Given the description of an element on the screen output the (x, y) to click on. 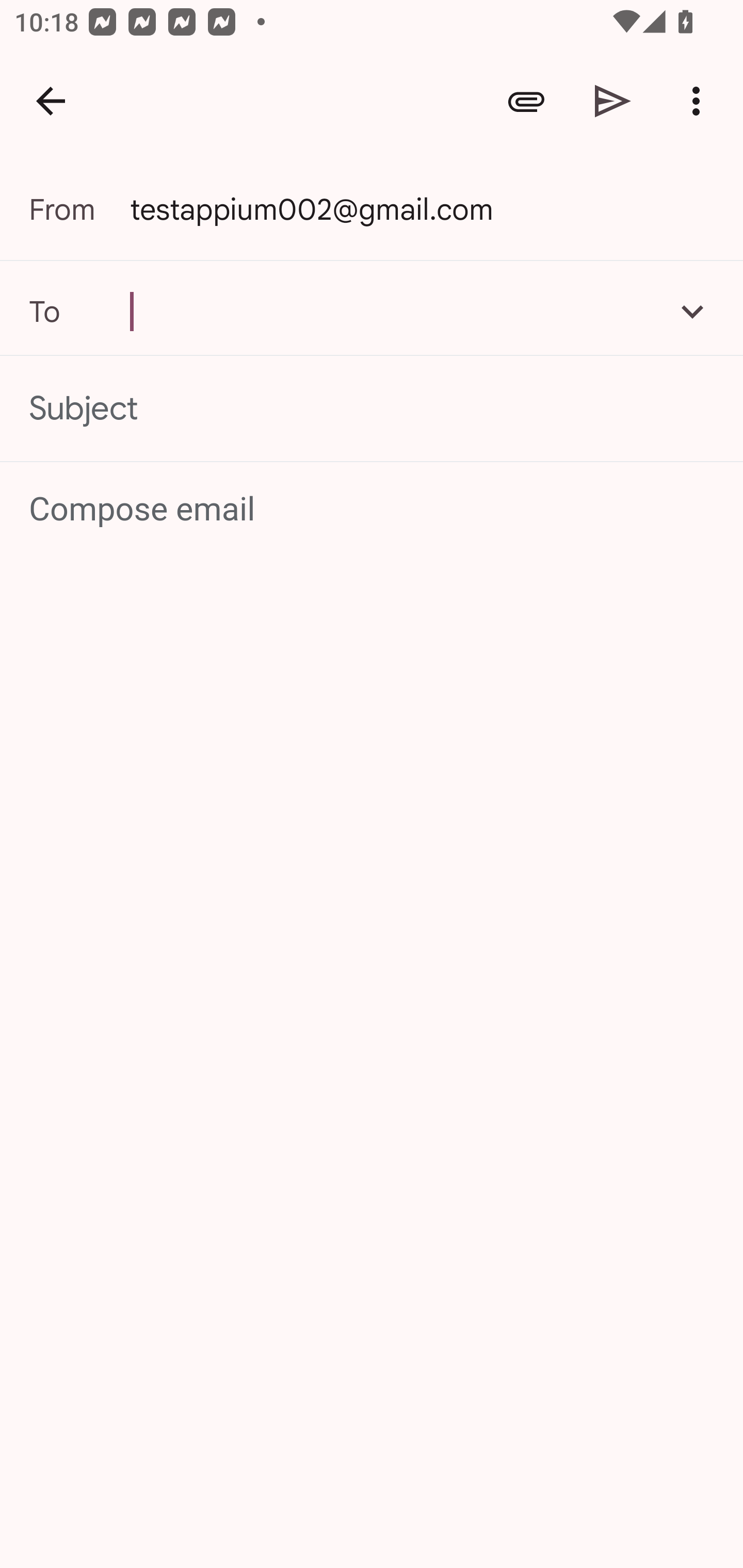
Navigate up (50, 101)
Attach file (525, 101)
Send (612, 101)
More options (699, 101)
From (79, 209)
Add Cc/Bcc (692, 311)
Subject (371, 407)
